Given the description of an element on the screen output the (x, y) to click on. 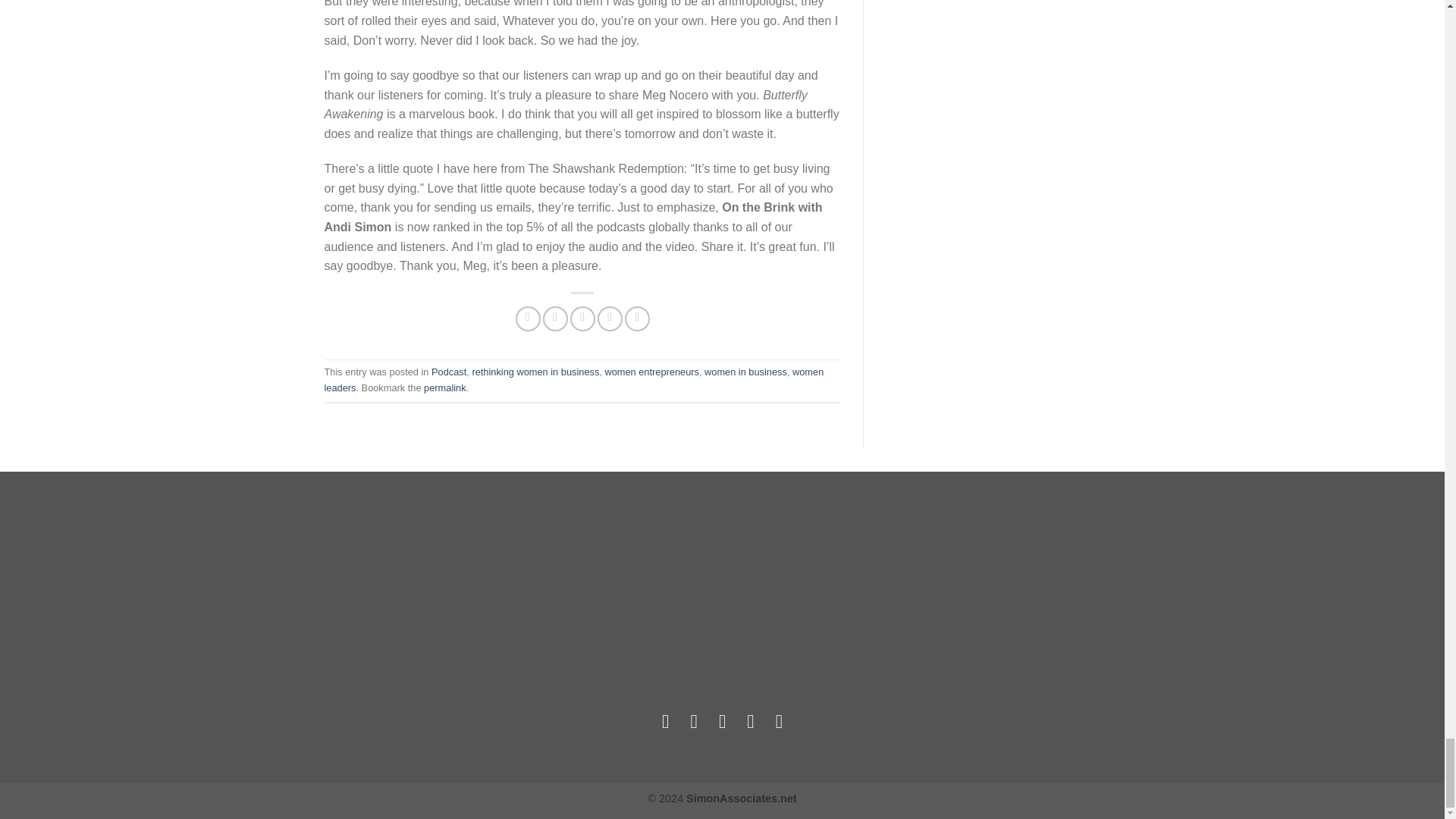
Pin on Pinterest (609, 318)
Share on Facebook (527, 318)
Share on Twitter (555, 318)
Email to a Friend (582, 318)
